Given the description of an element on the screen output the (x, y) to click on. 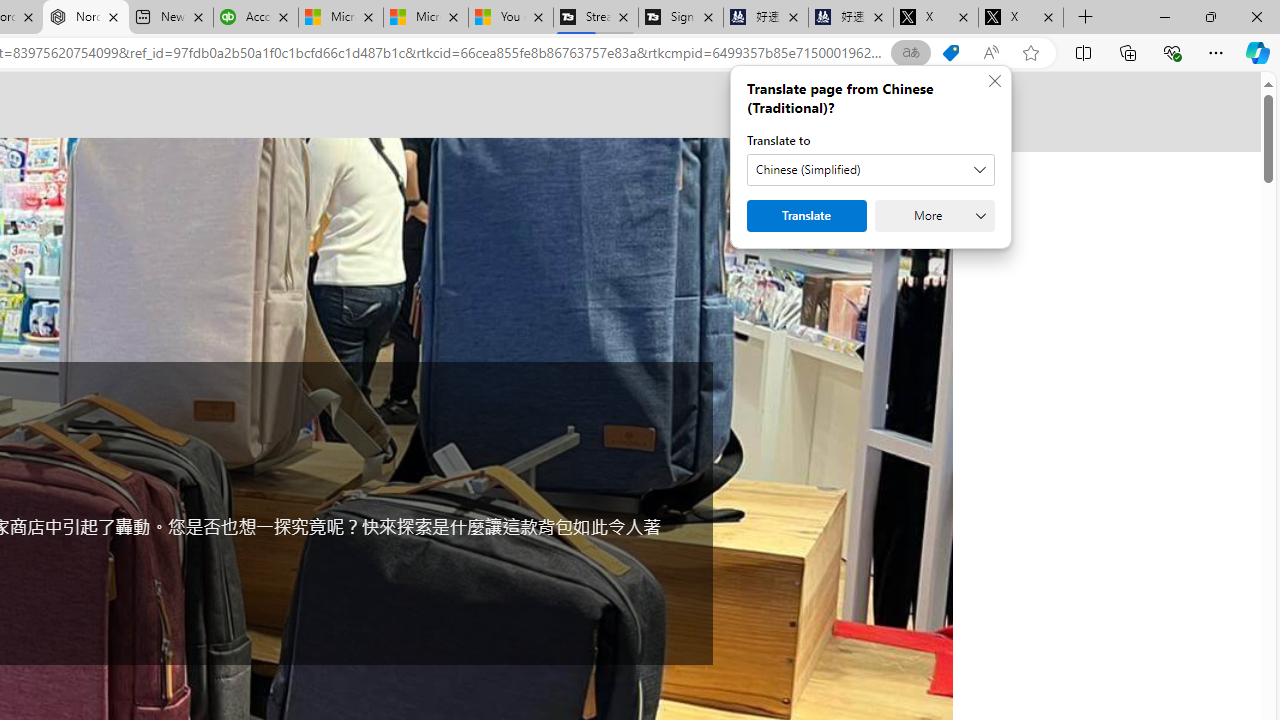
Translate (806, 215)
Show translate options (910, 53)
